Given the description of an element on the screen output the (x, y) to click on. 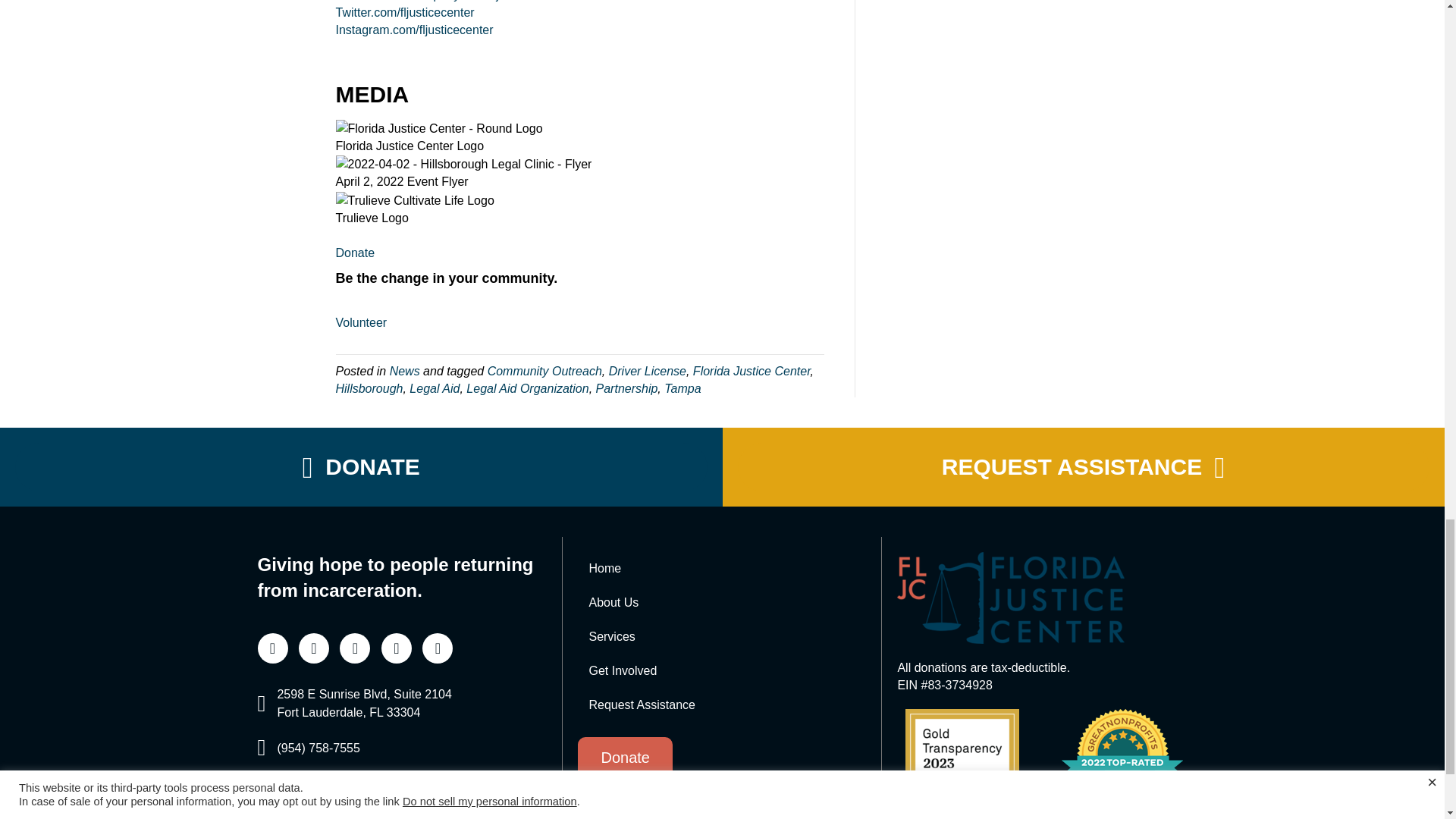
Guidestar Gold Seal of Transparency 2023 (962, 764)
Facebook (313, 648)
Instagram (354, 648)
Twitter (437, 648)
Florida Justice Center Modern Logo (1010, 597)
YouTube (396, 648)
Great Nonprofits - 2022 Top-Rated (1121, 754)
LinkedIn (272, 648)
